Given the description of an element on the screen output the (x, y) to click on. 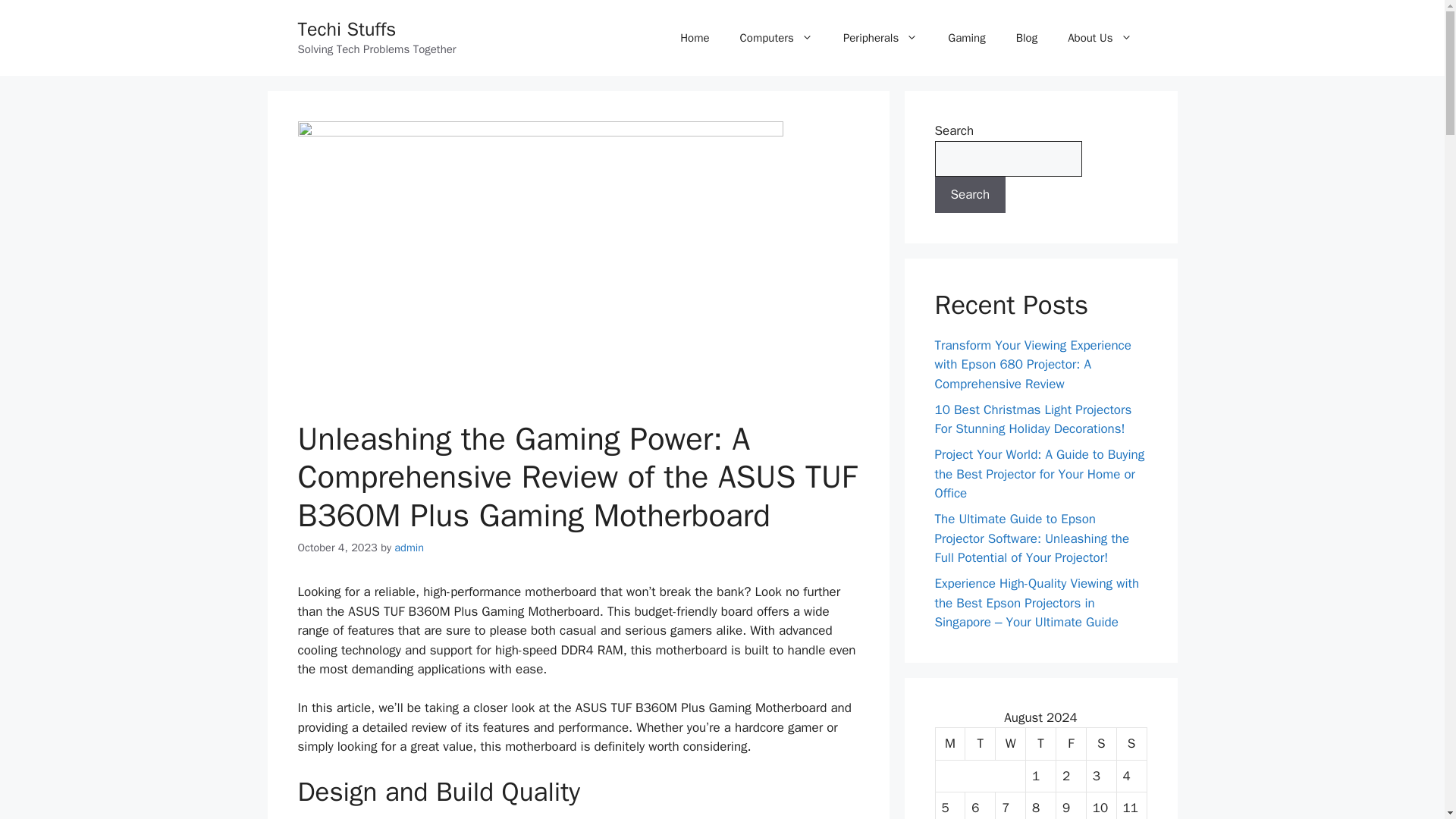
Search (970, 194)
Monday (951, 744)
Blog (1026, 37)
Computers (776, 37)
Wednesday (1010, 744)
Home (694, 37)
Peripherals (880, 37)
About Us (1099, 37)
